Given the description of an element on the screen output the (x, y) to click on. 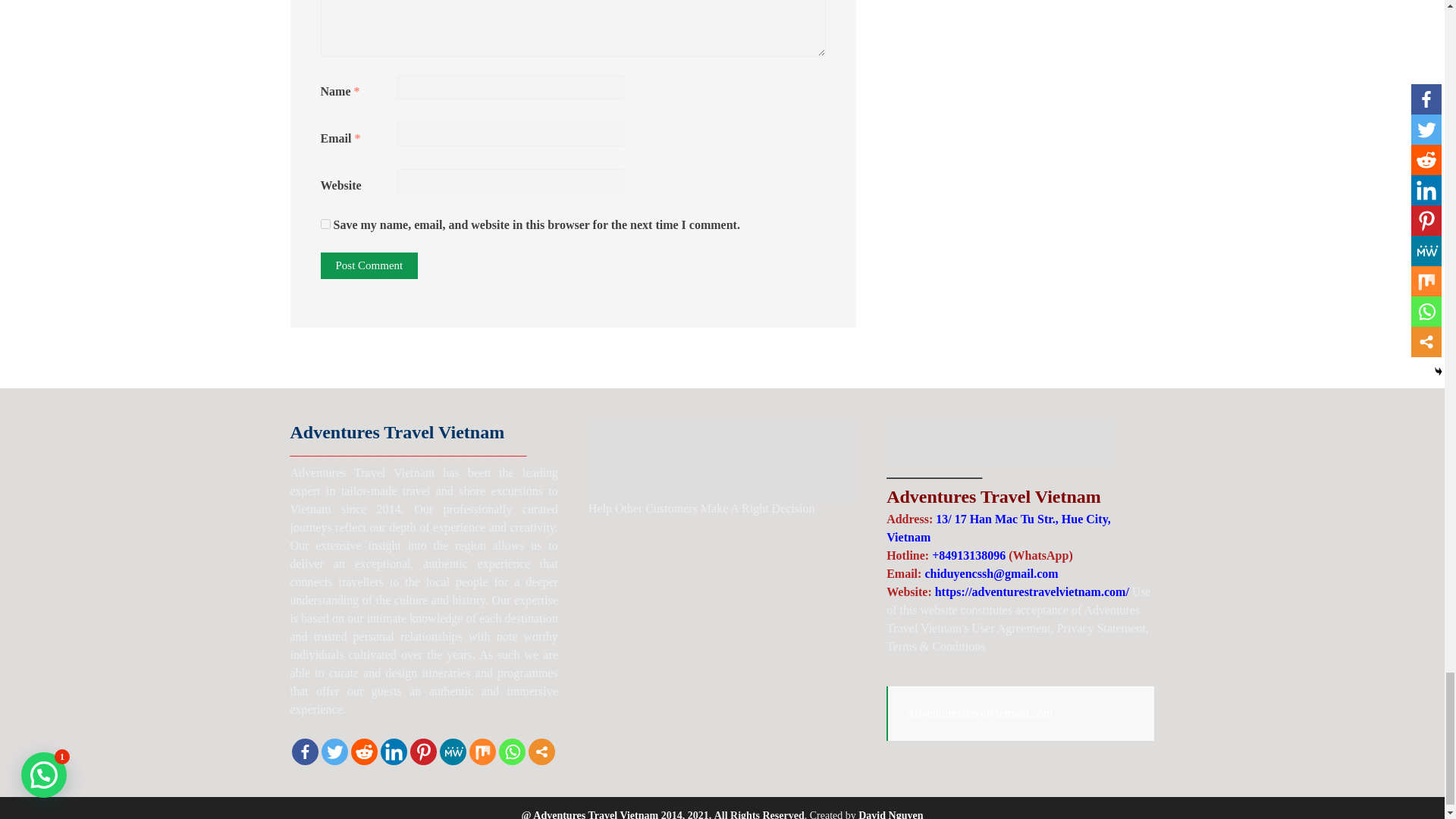
Post Comment (368, 265)
yes (325, 224)
